Given the description of an element on the screen output the (x, y) to click on. 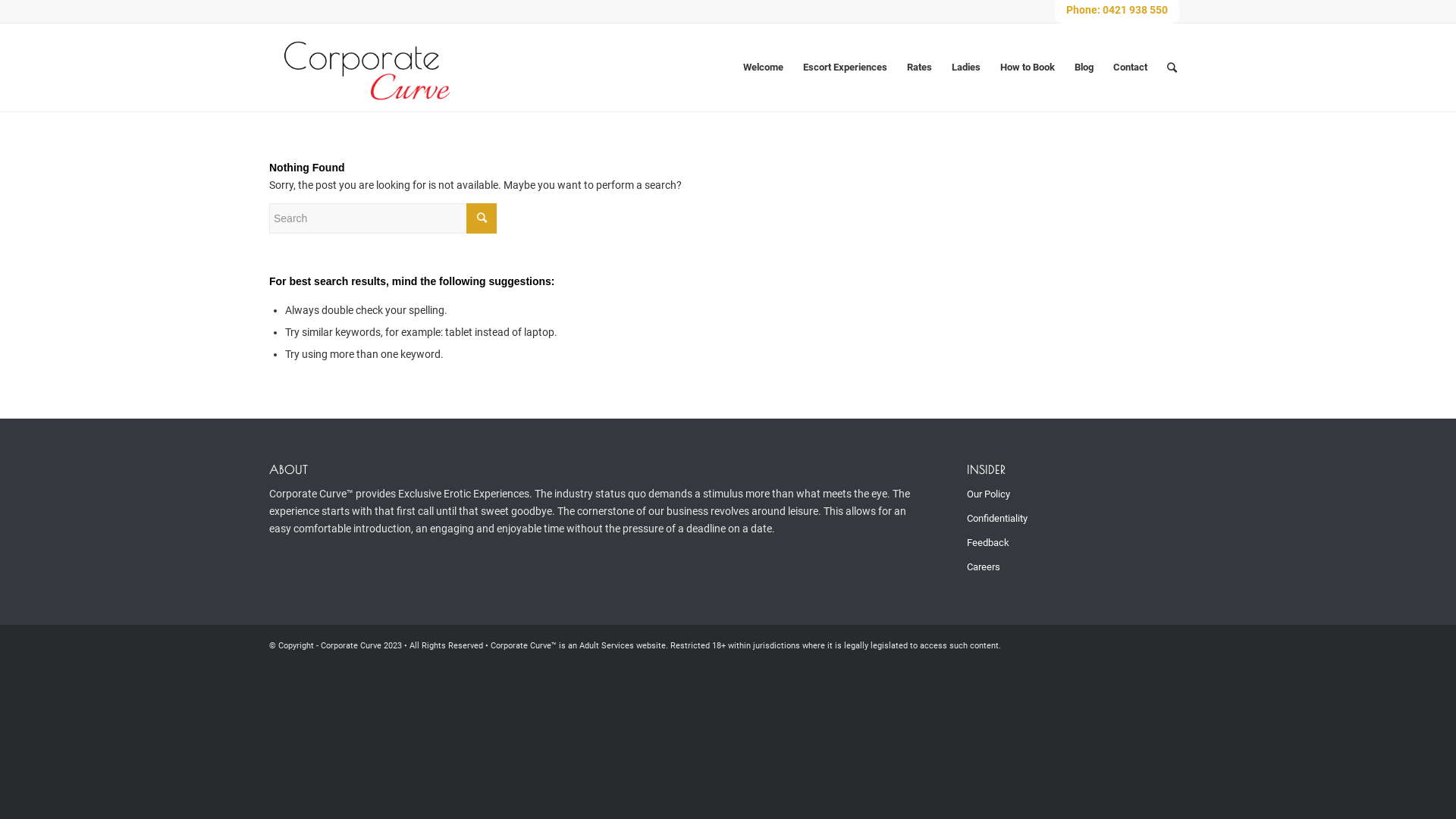
Feedback Element type: text (1058, 542)
Ladies Element type: text (965, 67)
Rates Element type: text (919, 67)
Confidentiality Element type: text (1058, 518)
Contact Element type: text (1130, 67)
Blog Element type: text (1083, 67)
Careers Element type: text (1058, 567)
How to Book Element type: text (1027, 67)
Our Policy Element type: text (1058, 494)
Escort Experiences Element type: text (845, 67)
Welcome Element type: text (763, 67)
